Given the description of an element on the screen output the (x, y) to click on. 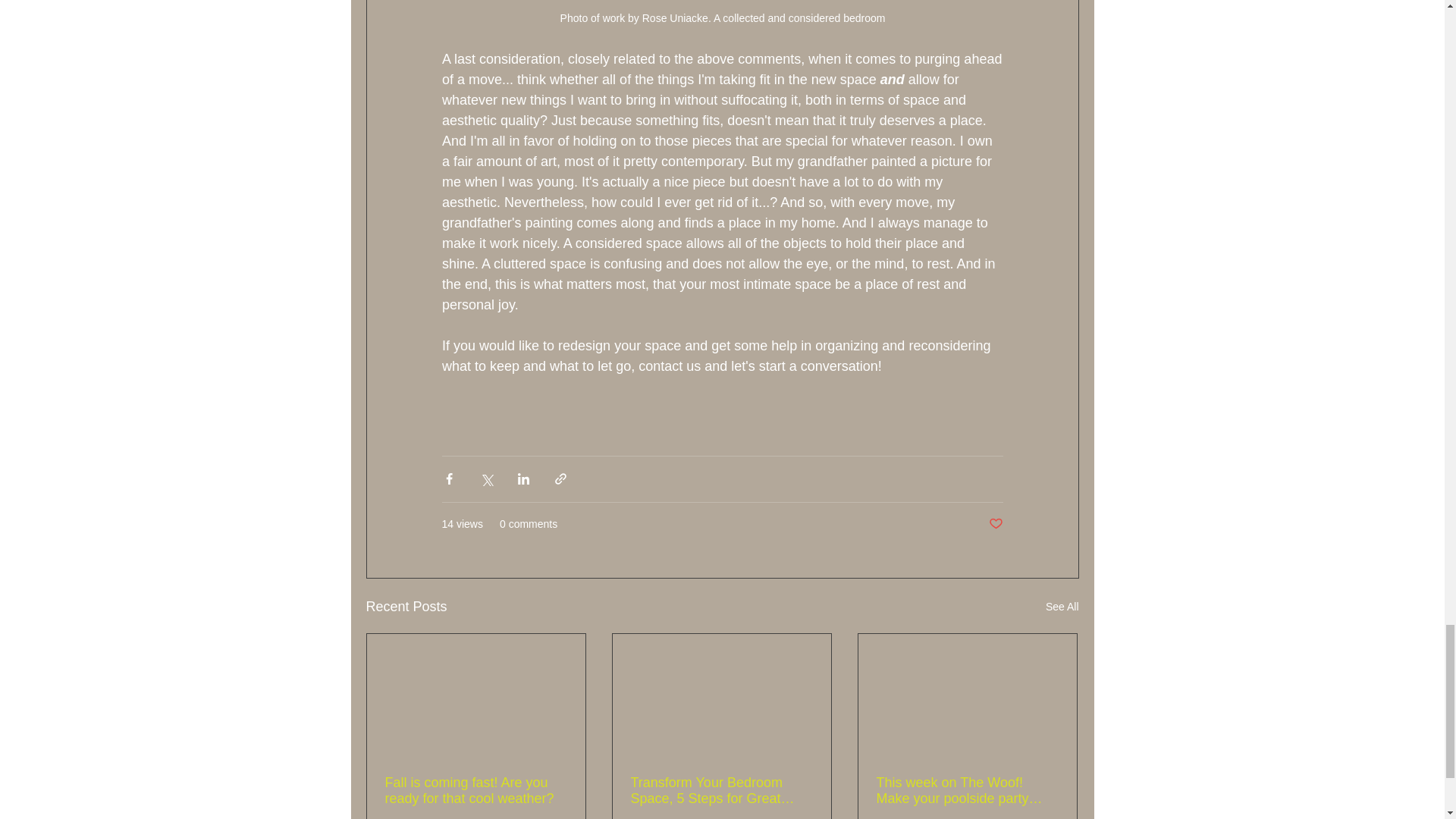
Transform Your Bedroom Space, 5 Steps for Great Sleep (721, 790)
Fall is coming fast! Are you ready for that cool weather? (476, 790)
Post not marked as liked (995, 524)
See All (1061, 607)
This week on The Woof! Make your poolside party memorable (967, 790)
